Given the description of an element on the screen output the (x, y) to click on. 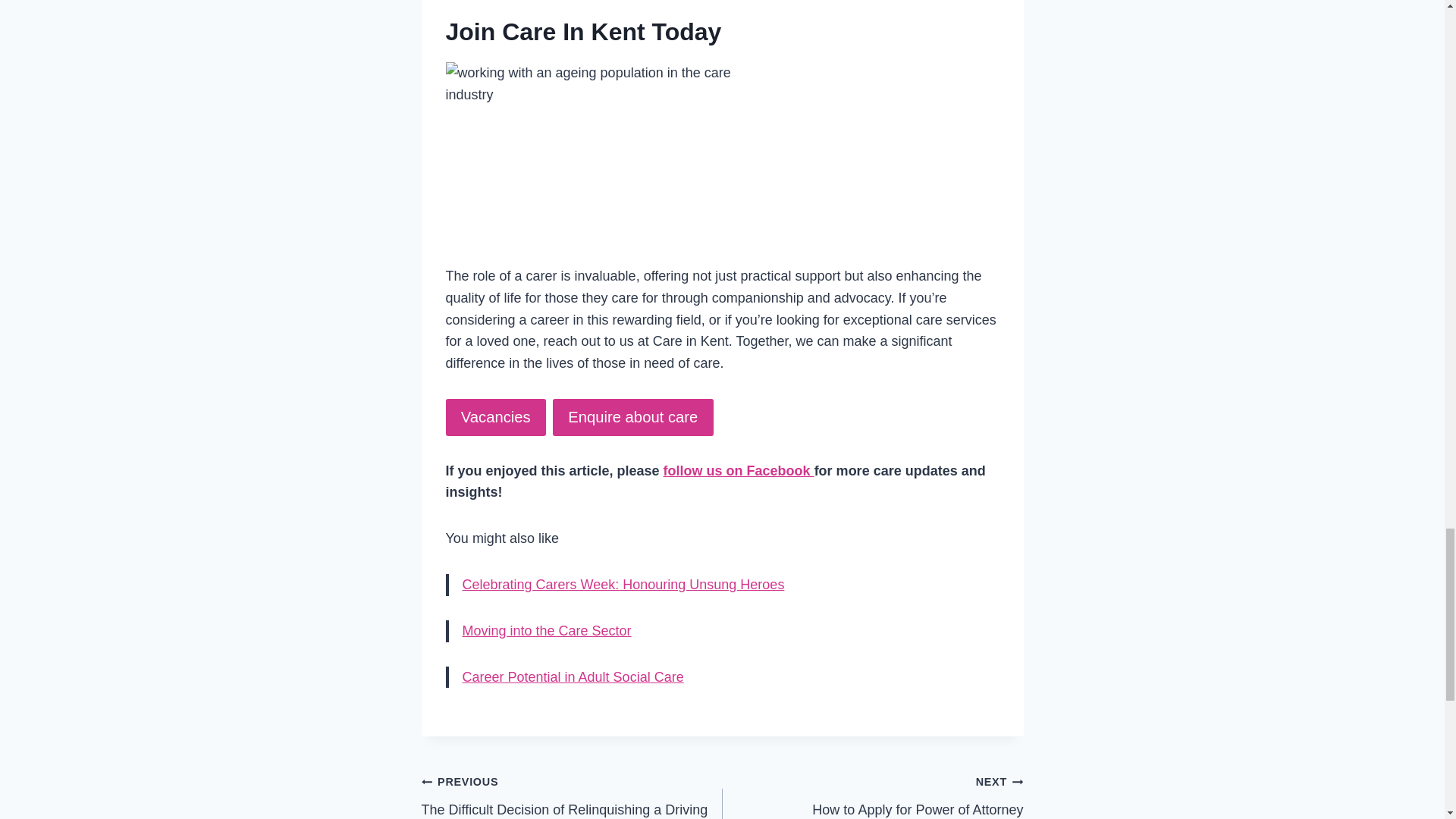
Celebrating Carers Week: Honouring Unsung Heroes (623, 584)
follow us on Facebook  (738, 470)
Career Potential in Adult Social Care (573, 676)
Vacancies (495, 416)
Enquire about care (633, 416)
Moving into the Care Sector (547, 630)
